Given the description of an element on the screen output the (x, y) to click on. 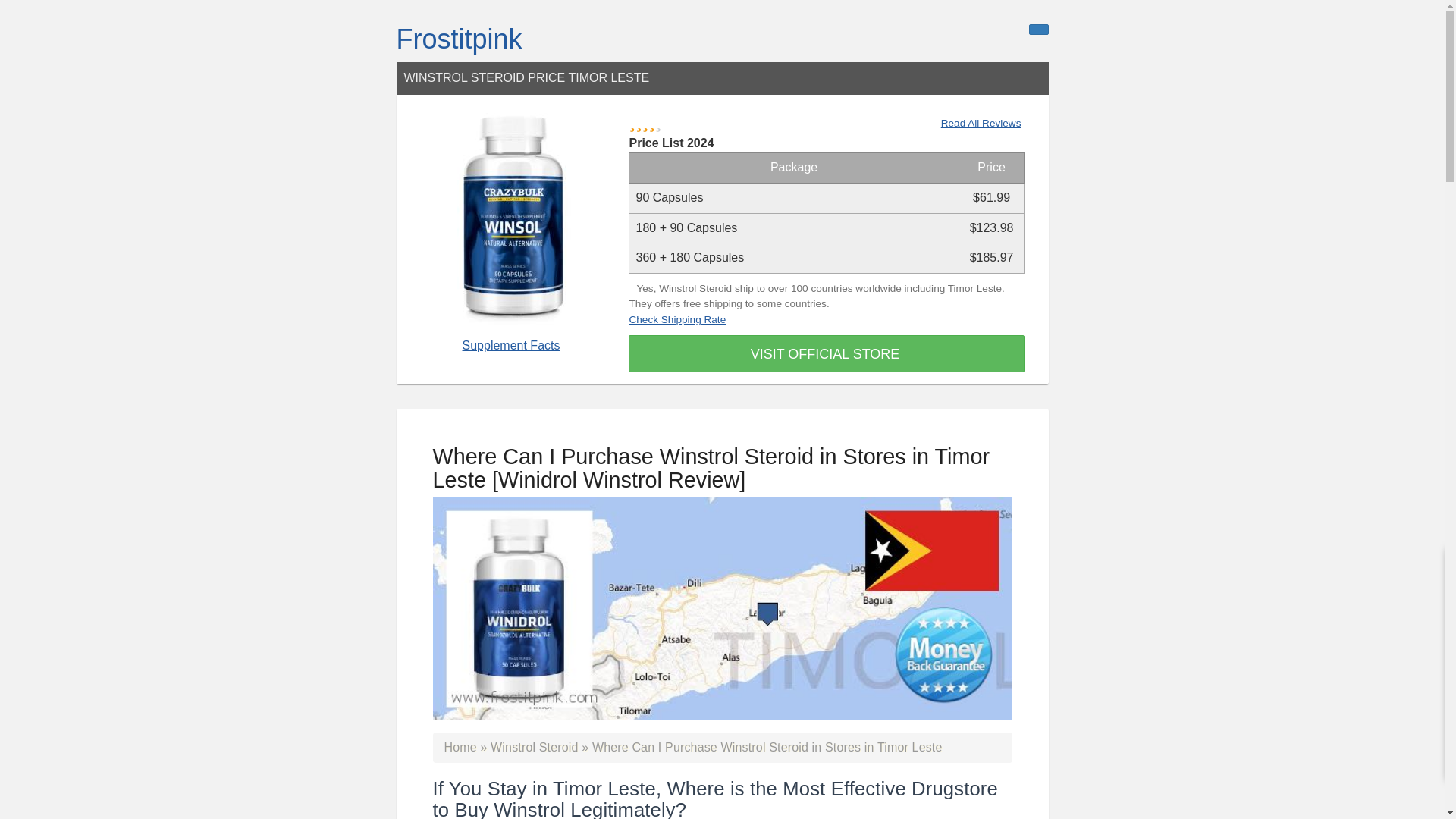
Frostitpink (458, 38)
Winstrol Steroid (534, 747)
Frostitpink (458, 38)
Home (460, 747)
Buy Winstrol Steroid Online  (534, 747)
